Given the description of an element on the screen output the (x, y) to click on. 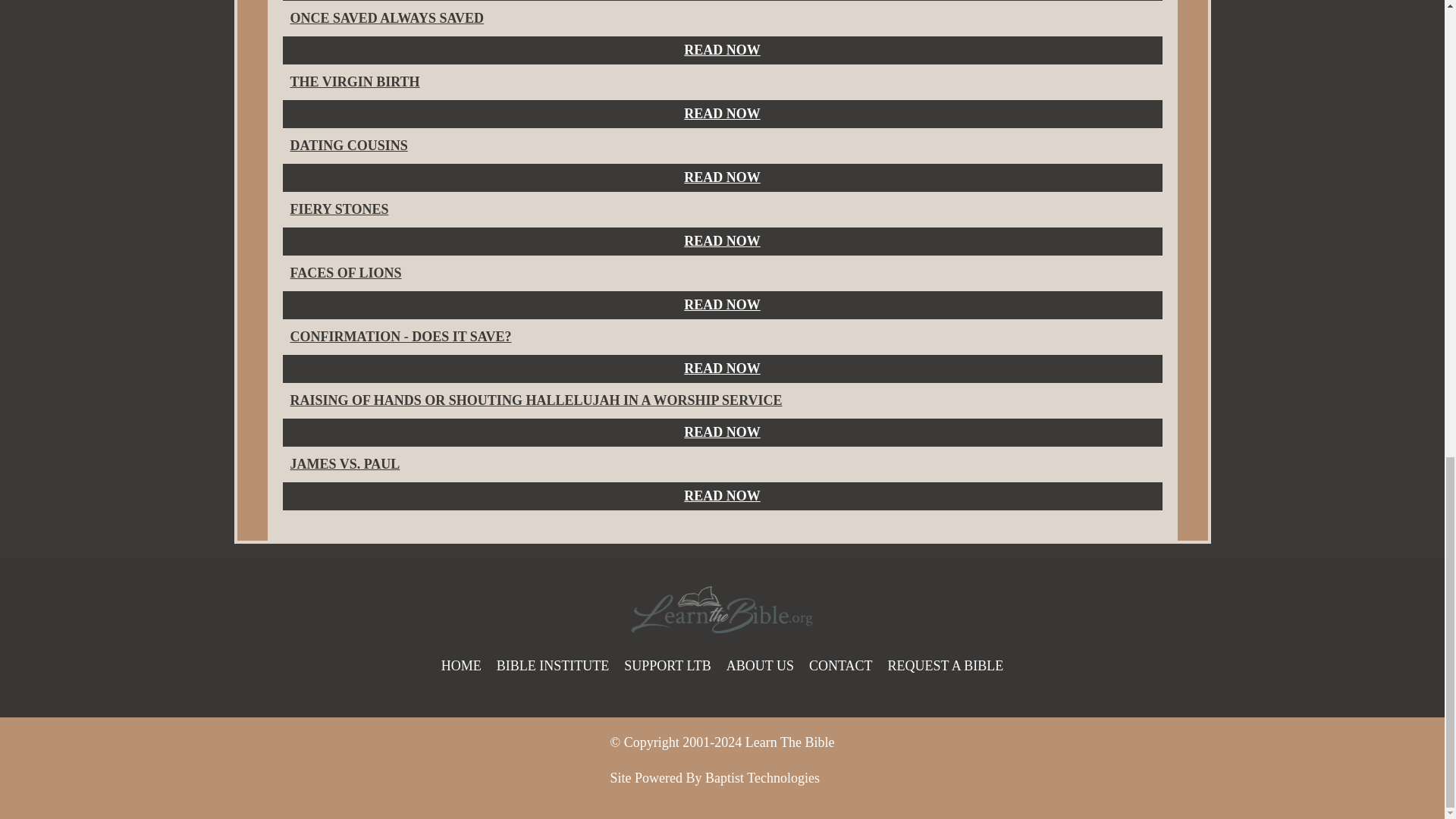
READ NOW (722, 49)
THE VIRGIN BIRTH (354, 81)
CONFIRMATION - DOES IT SAVE? (400, 336)
READ NOW (722, 113)
READ NOW (722, 240)
RAISING OF HANDS OR SHOUTING HALLELUJAH IN A WORSHIP SERVICE (535, 400)
READ NOW (722, 368)
JAMES VS. PAUL (343, 463)
ABOUT US (759, 665)
ONCE SAVED ALWAYS SAVED (386, 17)
